Given the description of an element on the screen output the (x, y) to click on. 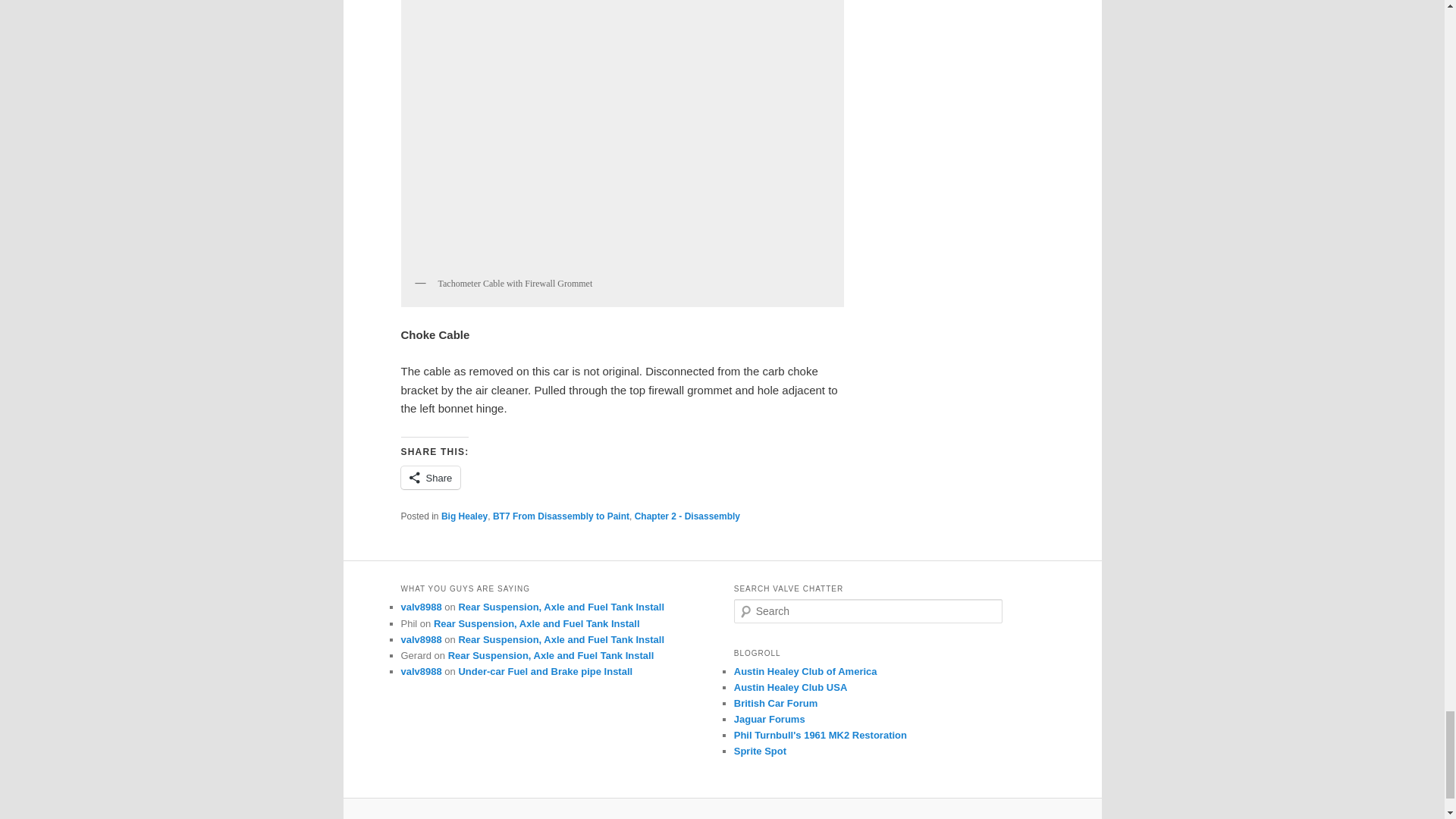
A Forum for all British Marques (775, 703)
 Welcome to the Austin-Healey Club of America  (805, 671)
The Austin Healey Club USA  (790, 686)
